Given the description of an element on the screen output the (x, y) to click on. 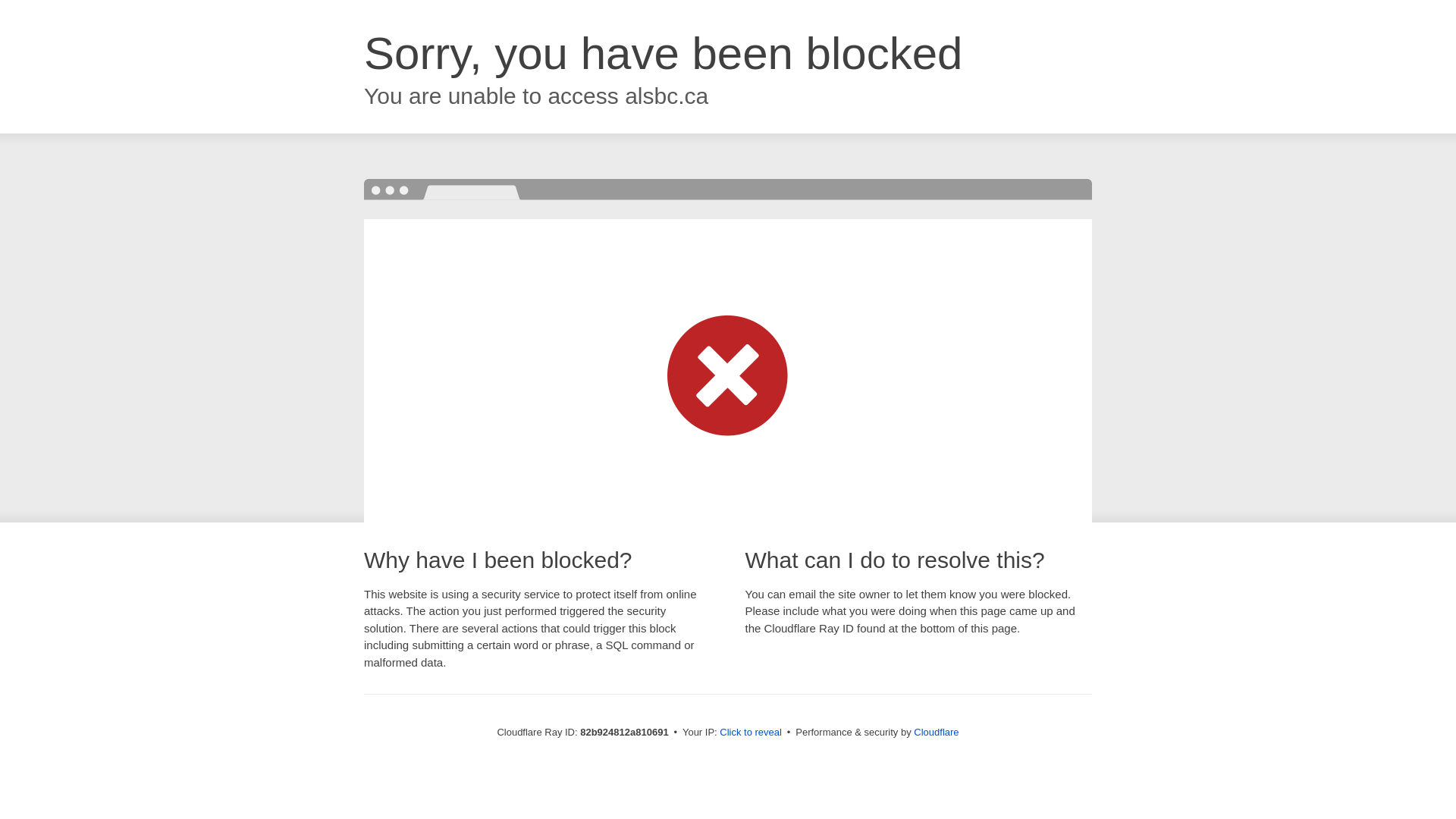
Cloudflare Element type: text (935, 731)
Click to reveal Element type: text (750, 732)
